Given the description of an element on the screen output the (x, y) to click on. 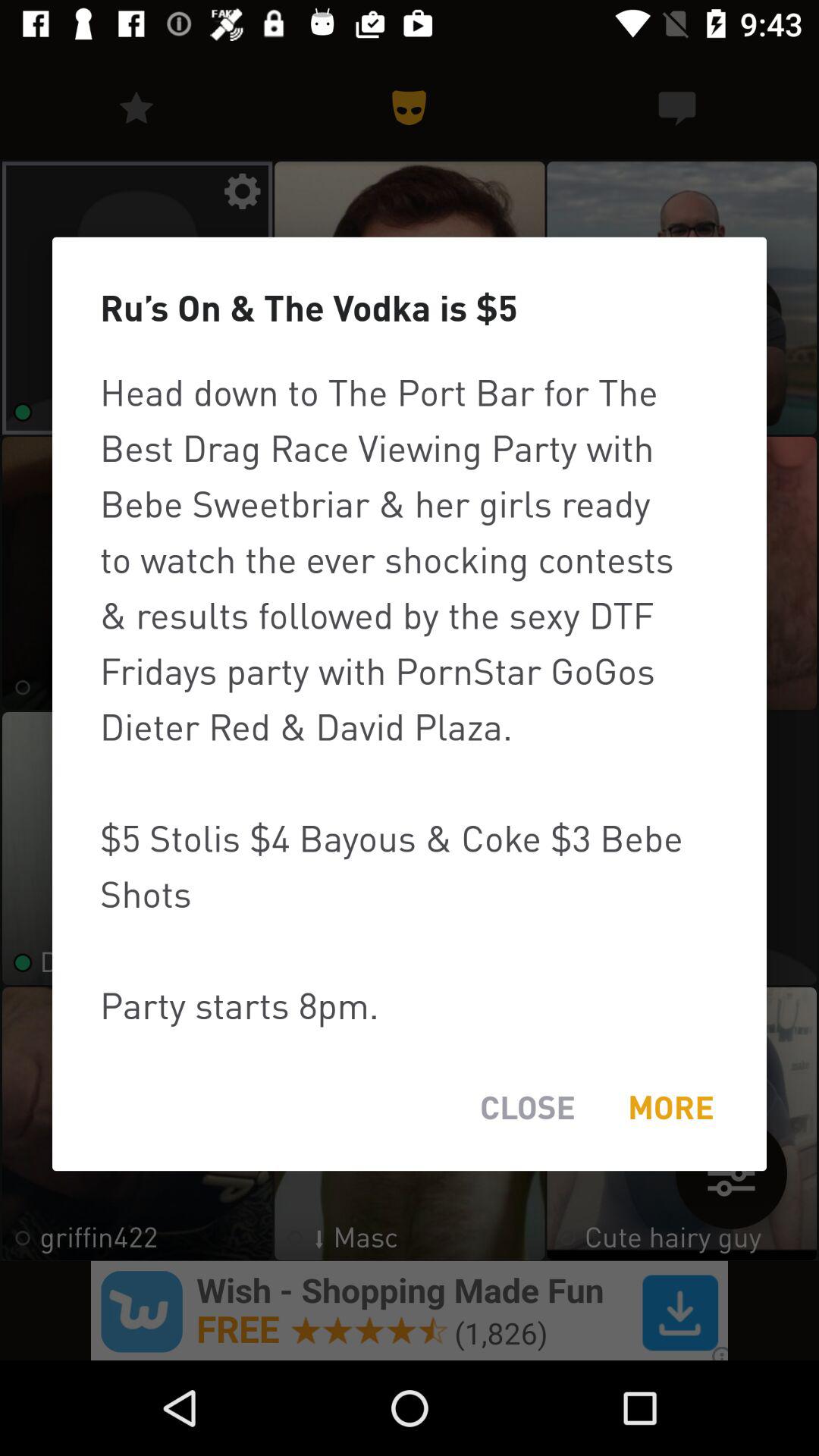
scroll to the head down to item (409, 698)
